Given the description of an element on the screen output the (x, y) to click on. 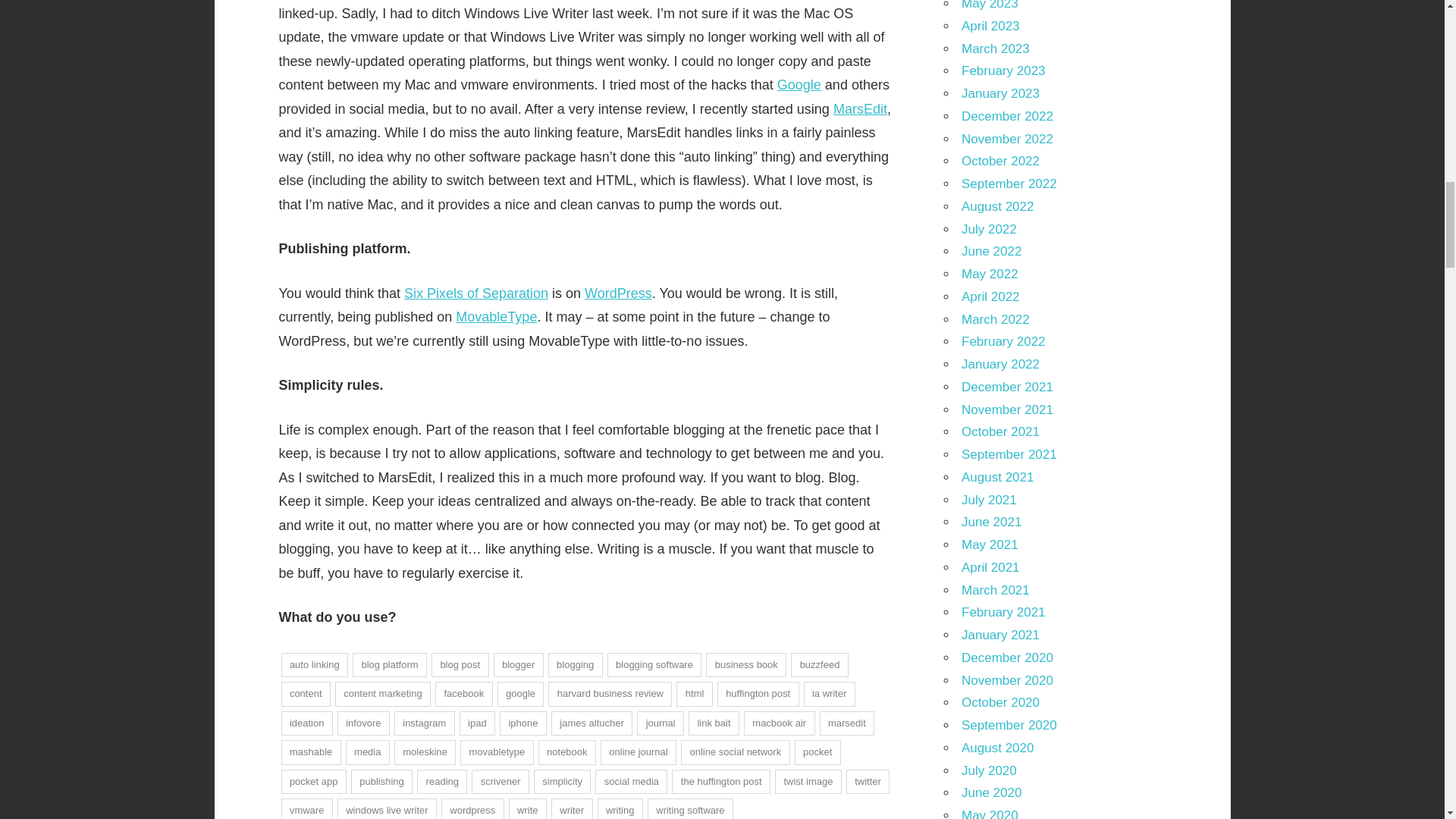
Google (799, 84)
Six Pixels of Separation (476, 293)
WordPress (618, 293)
MarsEdit (859, 109)
